Given the description of an element on the screen output the (x, y) to click on. 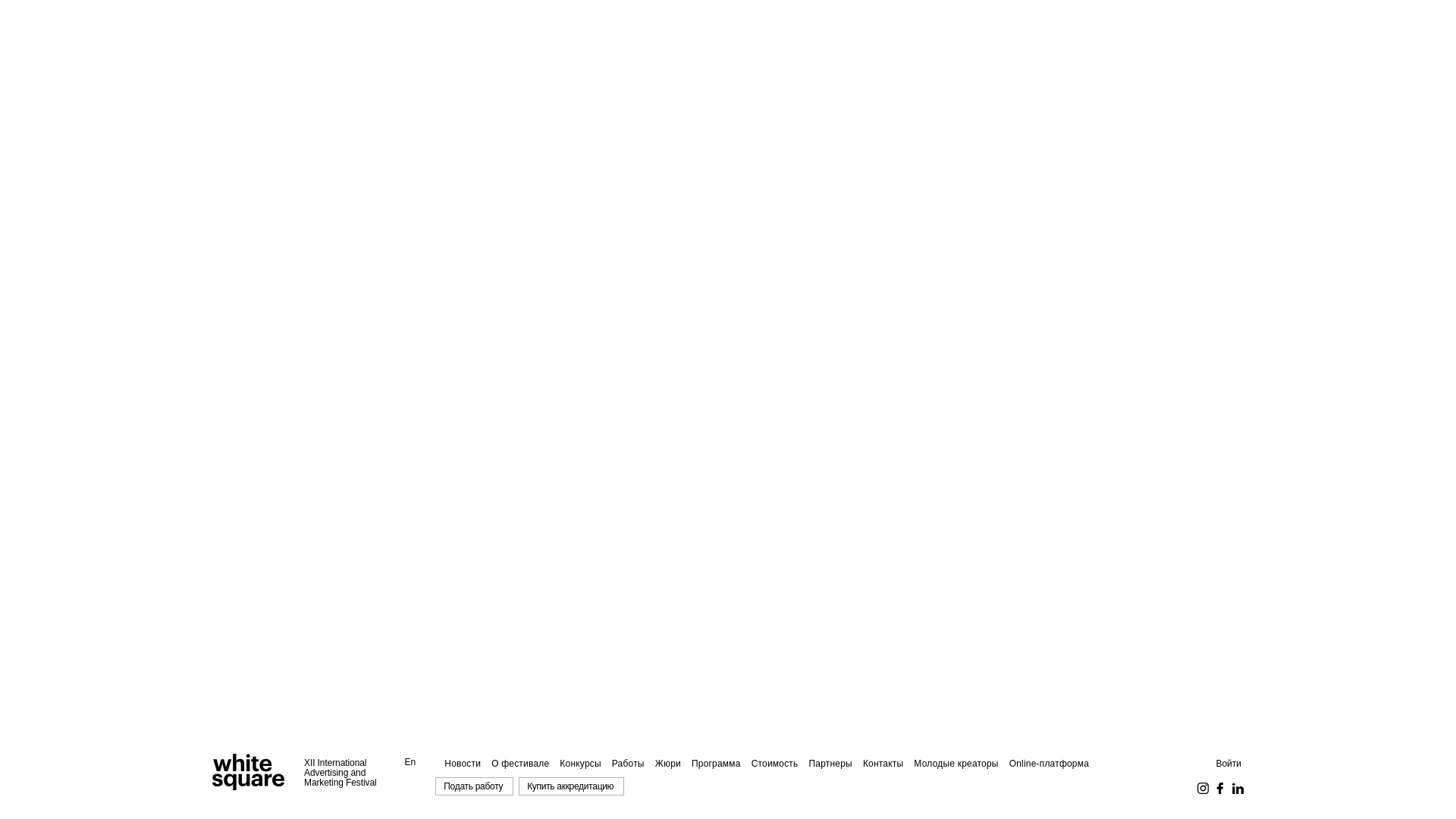
En Element type: text (410, 761)
